Given the description of an element on the screen output the (x, y) to click on. 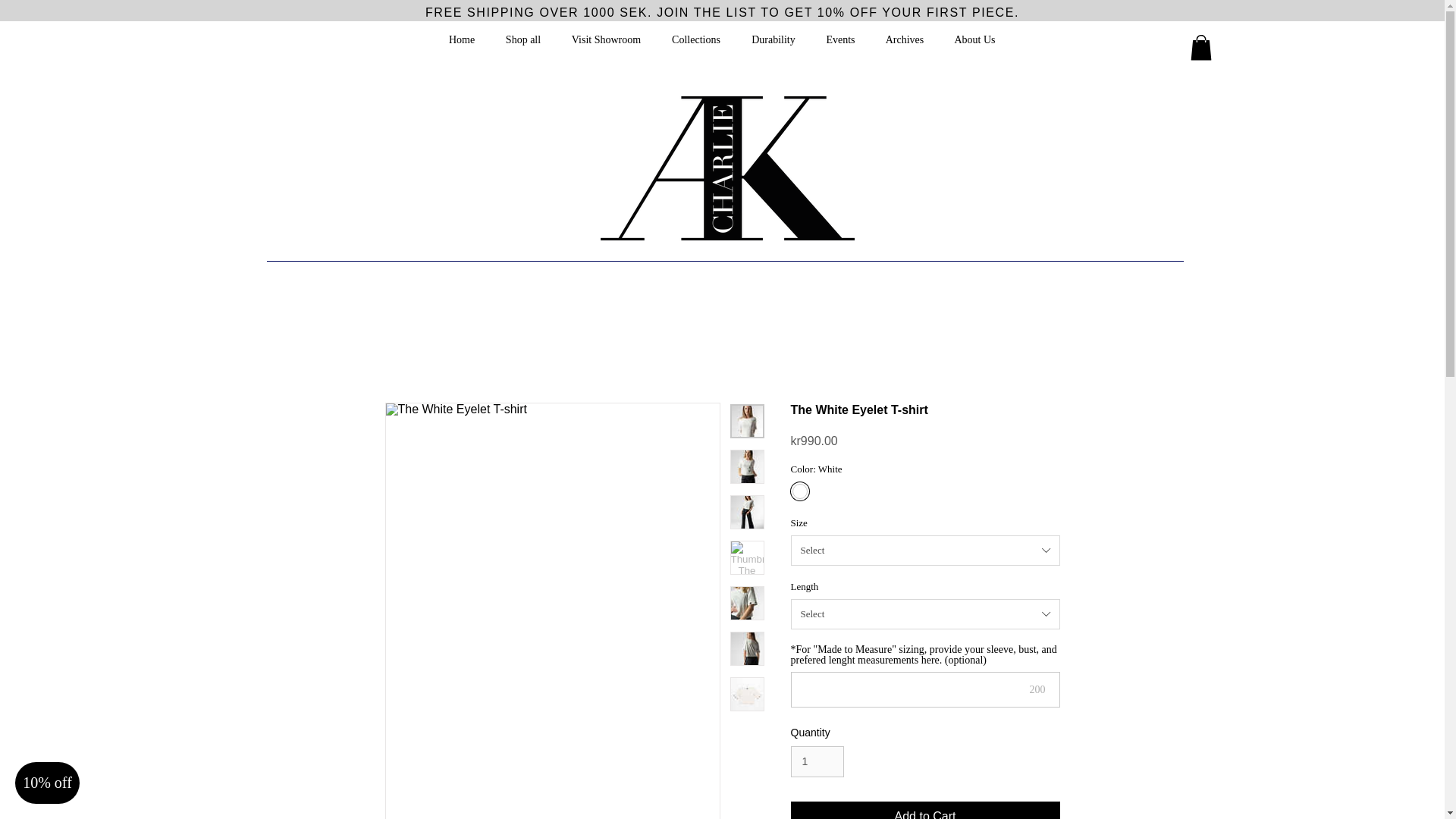
Home (461, 39)
Visit Showroom (606, 39)
Charlie AK black logo (726, 168)
Durability (772, 39)
Events (840, 39)
Collections (696, 39)
1 (817, 761)
Shop all (522, 39)
